Given the description of an element on the screen output the (x, y) to click on. 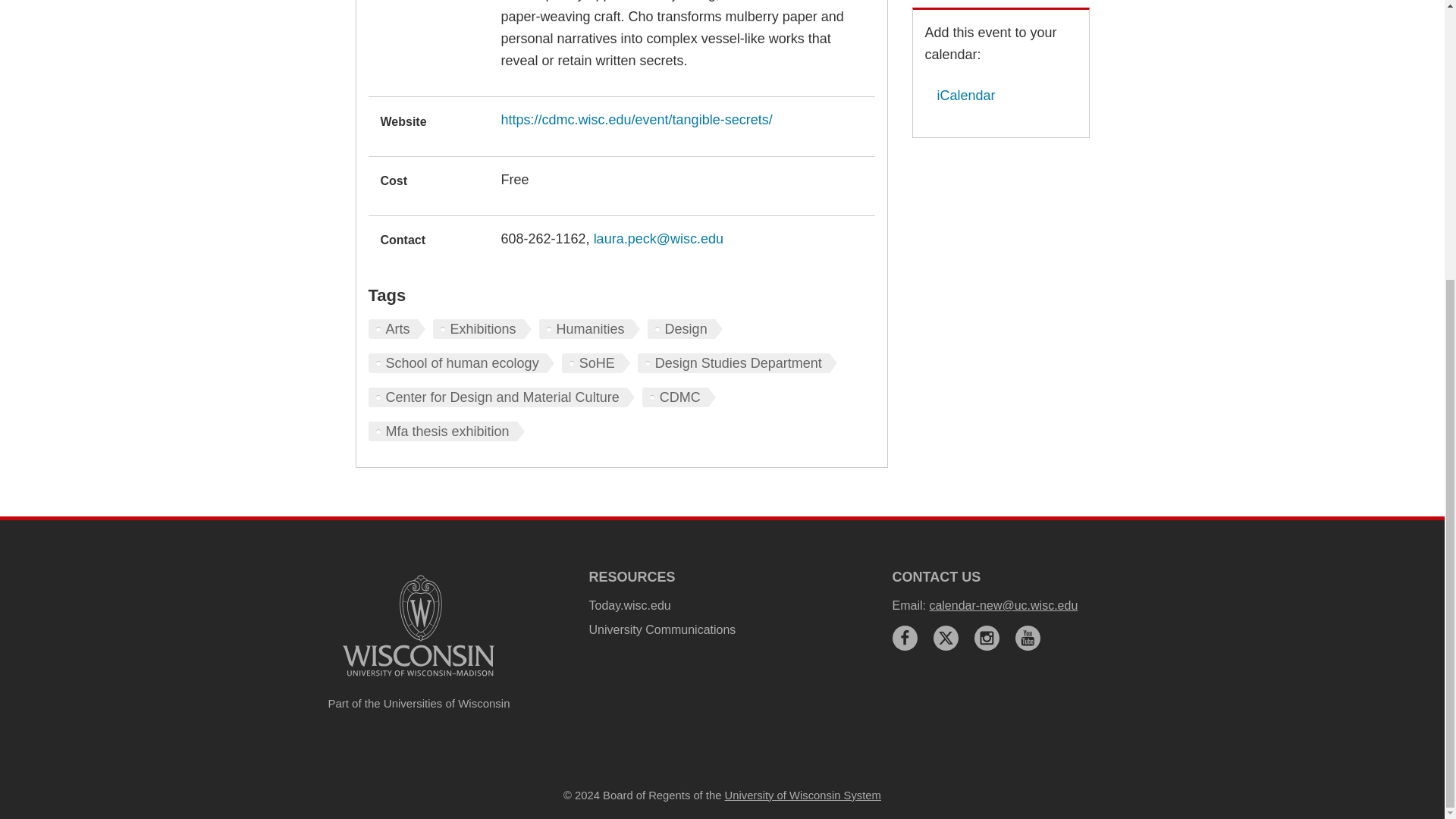
SoHE (596, 362)
Humanities (589, 329)
Design Studies Department (737, 362)
Center for Design and Material Culture (501, 397)
Arts (396, 329)
Mfa thesis exhibition (446, 431)
Exhibitions (481, 329)
CDMC (679, 397)
608-262-1162 (542, 238)
Design (684, 329)
School of human ecology (461, 362)
